Given the description of an element on the screen output the (x, y) to click on. 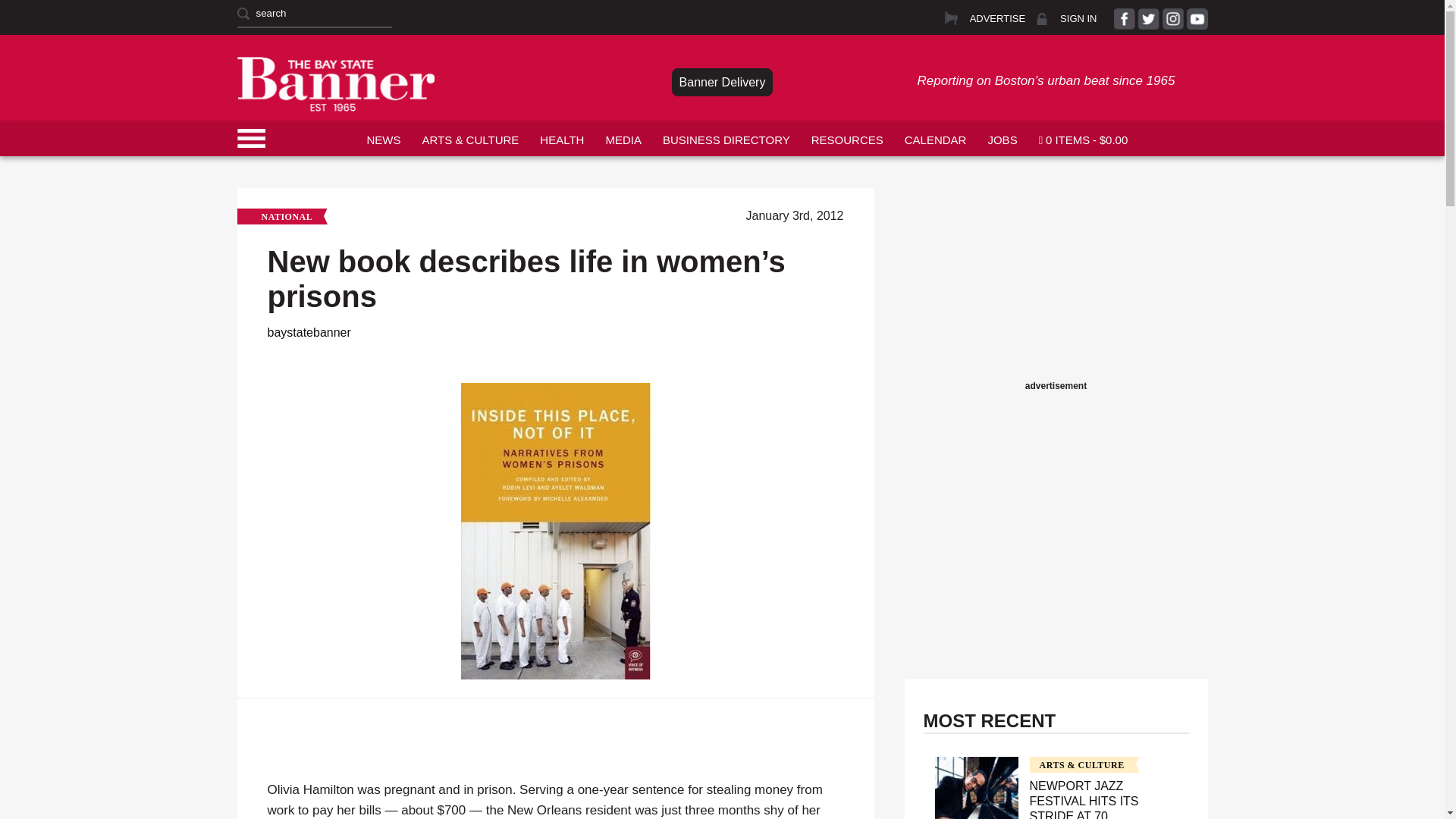
Start shopping (1082, 138)
The Bay State Banner (334, 83)
3rd party ad content (1055, 281)
